Given the description of an element on the screen output the (x, y) to click on. 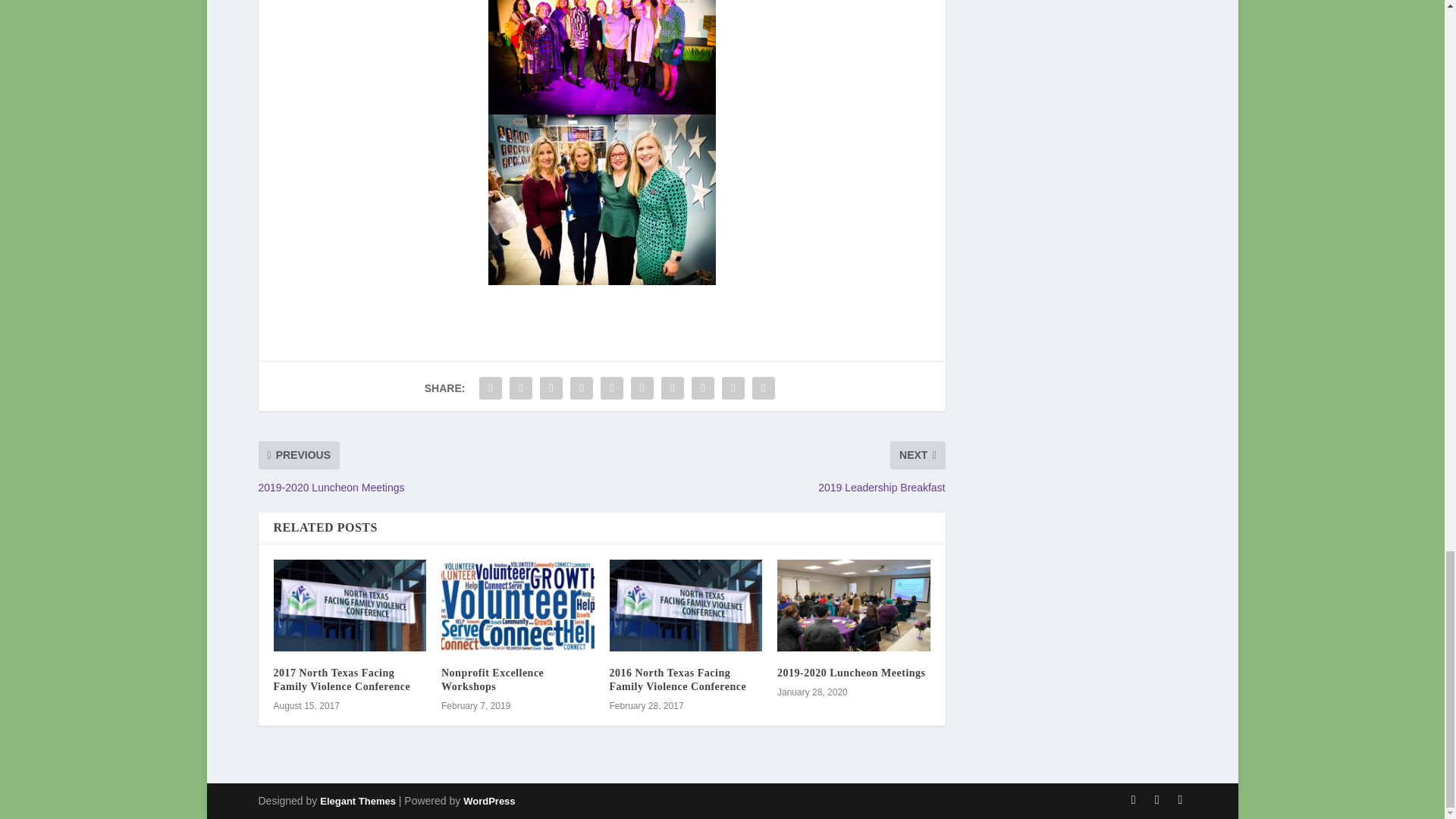
Share "Facing Family Violence in Collin County" via Print (763, 388)
Share "Facing Family Violence in Collin County" via Facebook (490, 388)
Share "Facing Family Violence in Collin County" via Tumblr (581, 388)
Share "Facing Family Violence in Collin County" via Twitter (520, 388)
Share "Facing Family Violence in Collin County" via Buffer (672, 388)
Share "Facing Family Violence in Collin County" via LinkedIn (642, 388)
Share "Facing Family Violence in Collin County" via Email (732, 388)
